Given the description of an element on the screen output the (x, y) to click on. 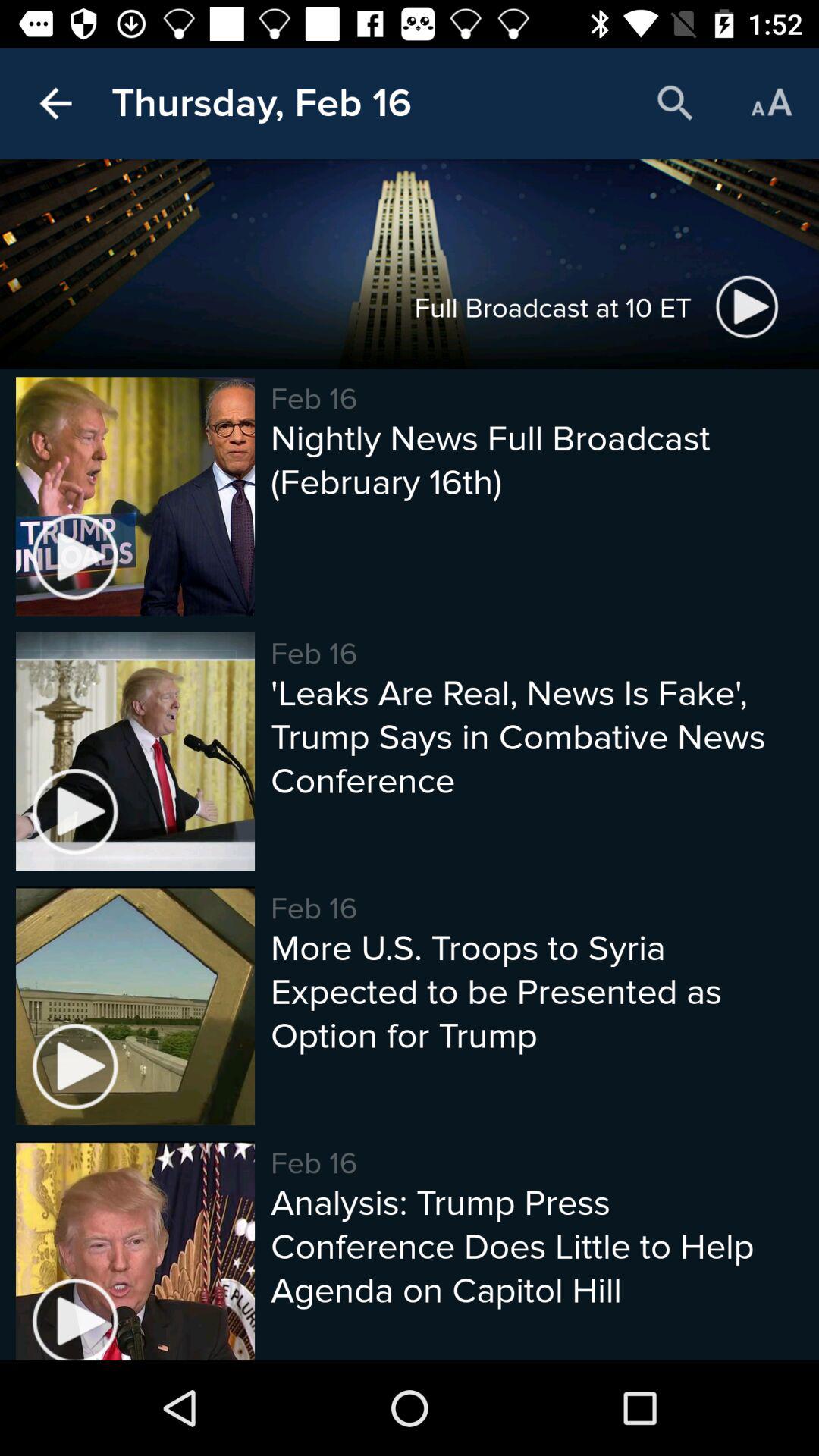
choose the item next to the thursday, feb 16 icon (55, 103)
